Given the description of an element on the screen output the (x, y) to click on. 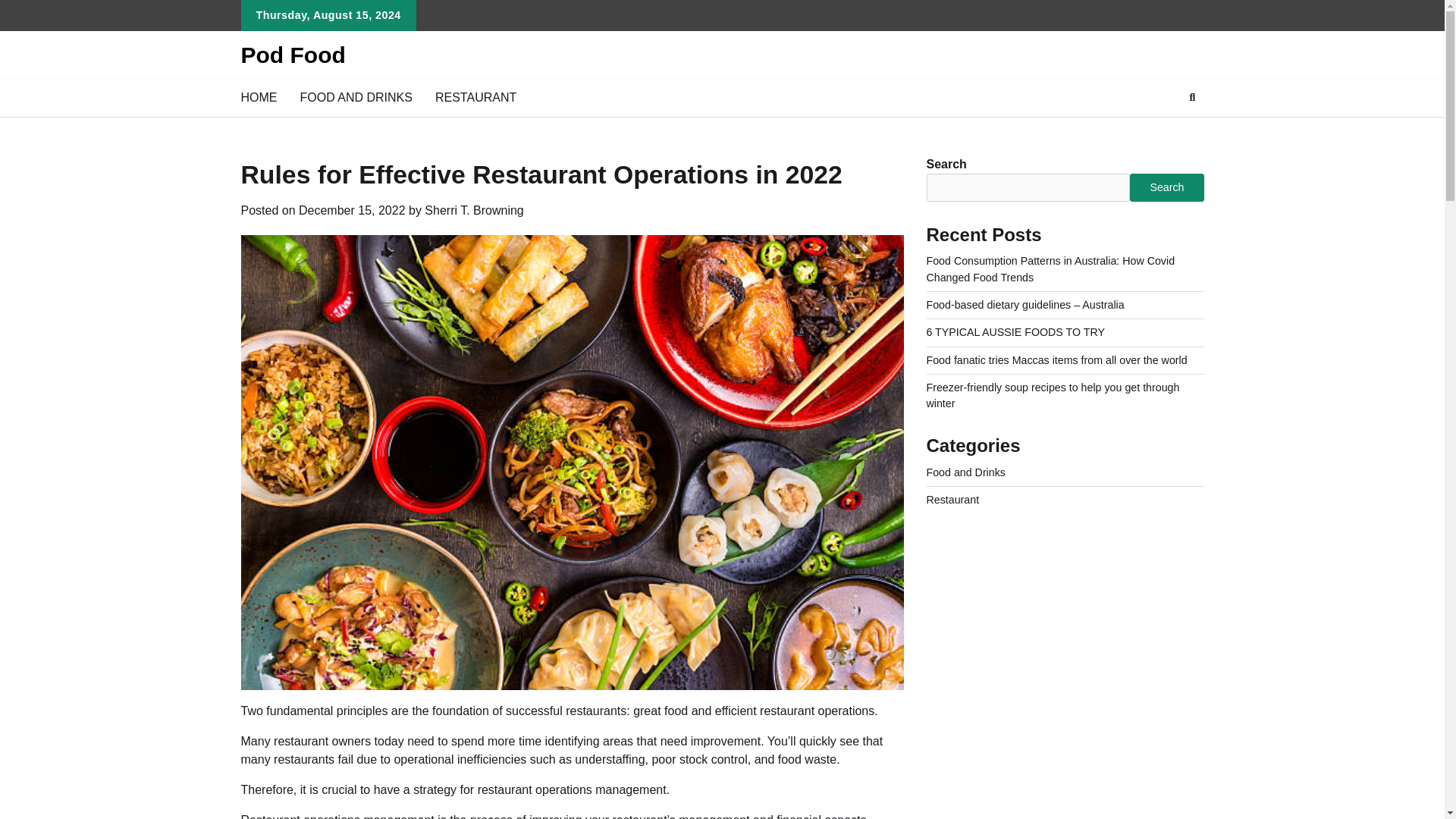
RESTAURANT (475, 97)
Freezer-friendly soup recipes to help you get through winter (1052, 395)
Pod Food (293, 54)
Search (1166, 186)
Food and Drinks (966, 472)
Restaurant (952, 499)
6 TYPICAL AUSSIE FOODS TO TRY (1015, 331)
FOOD AND DRINKS (355, 97)
Sherri T. Browning (473, 210)
